Given the description of an element on the screen output the (x, y) to click on. 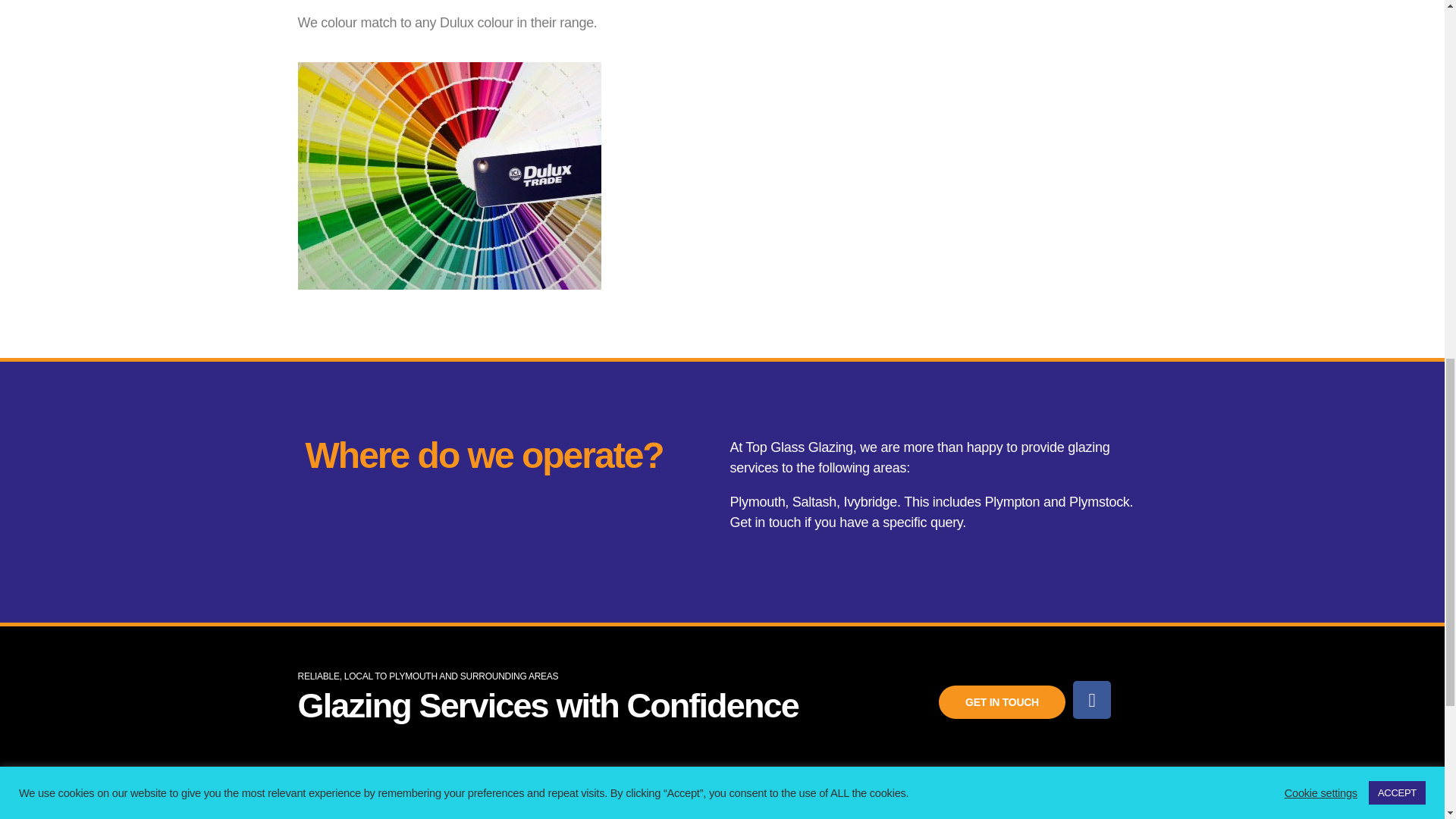
GET IN TOUCH (1002, 702)
